Given the description of an element on the screen output the (x, y) to click on. 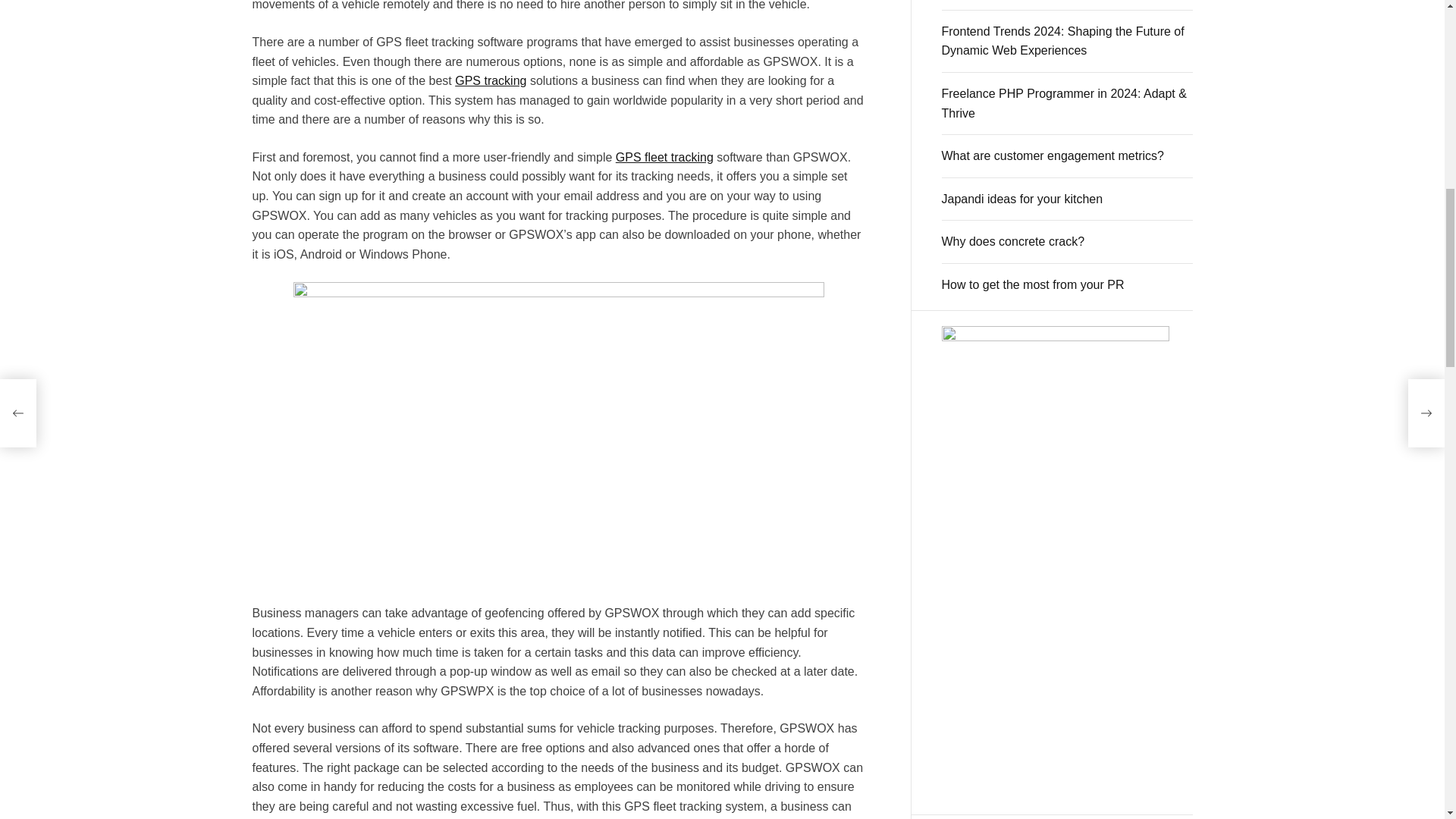
GPS fleet tracking (664, 156)
GPS tracking (489, 80)
Click Here (1055, 553)
